Given the description of an element on the screen output the (x, y) to click on. 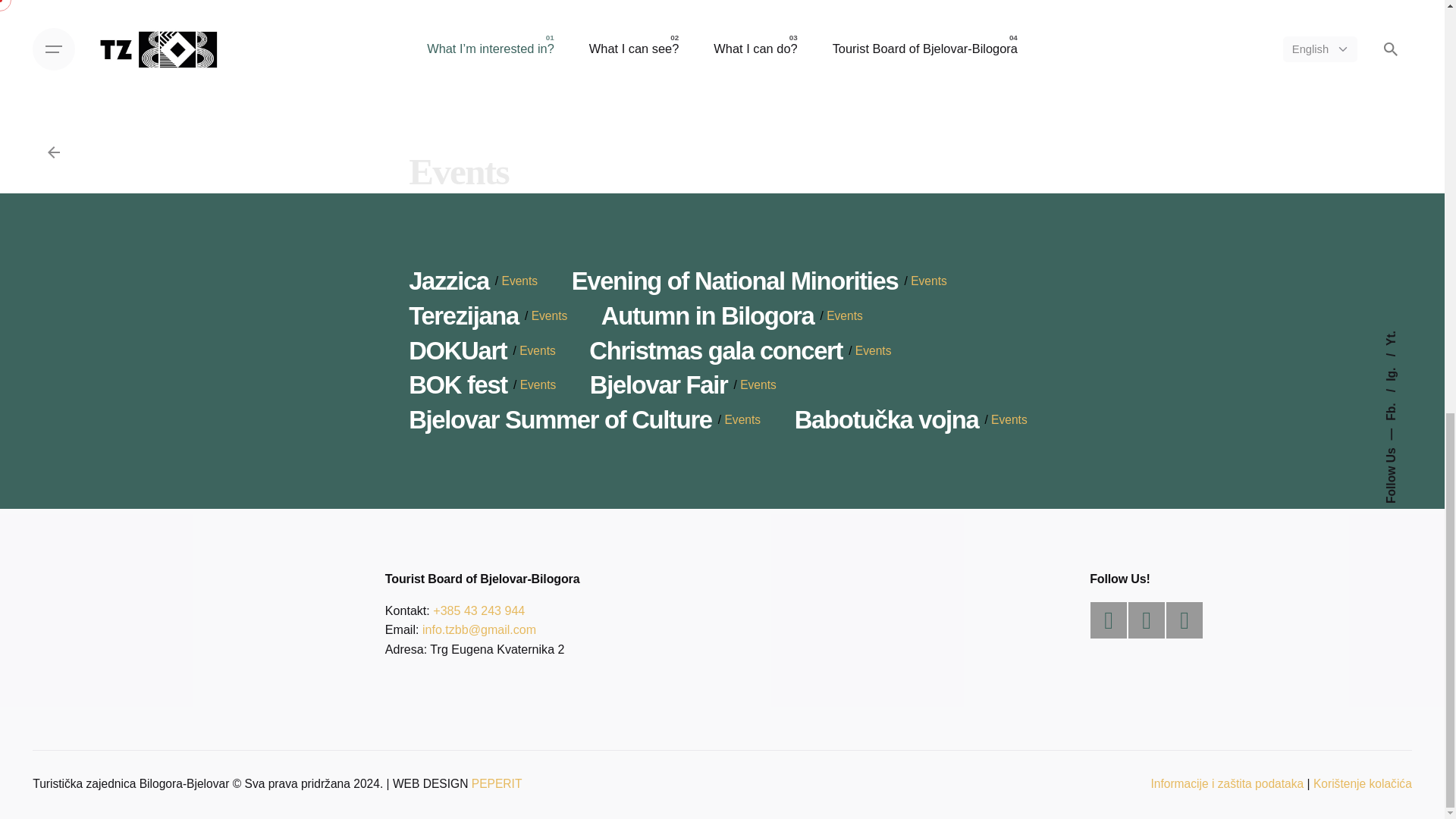
facebook (1108, 619)
instagram (1146, 619)
youtube (1184, 619)
